Given the description of an element on the screen output the (x, y) to click on. 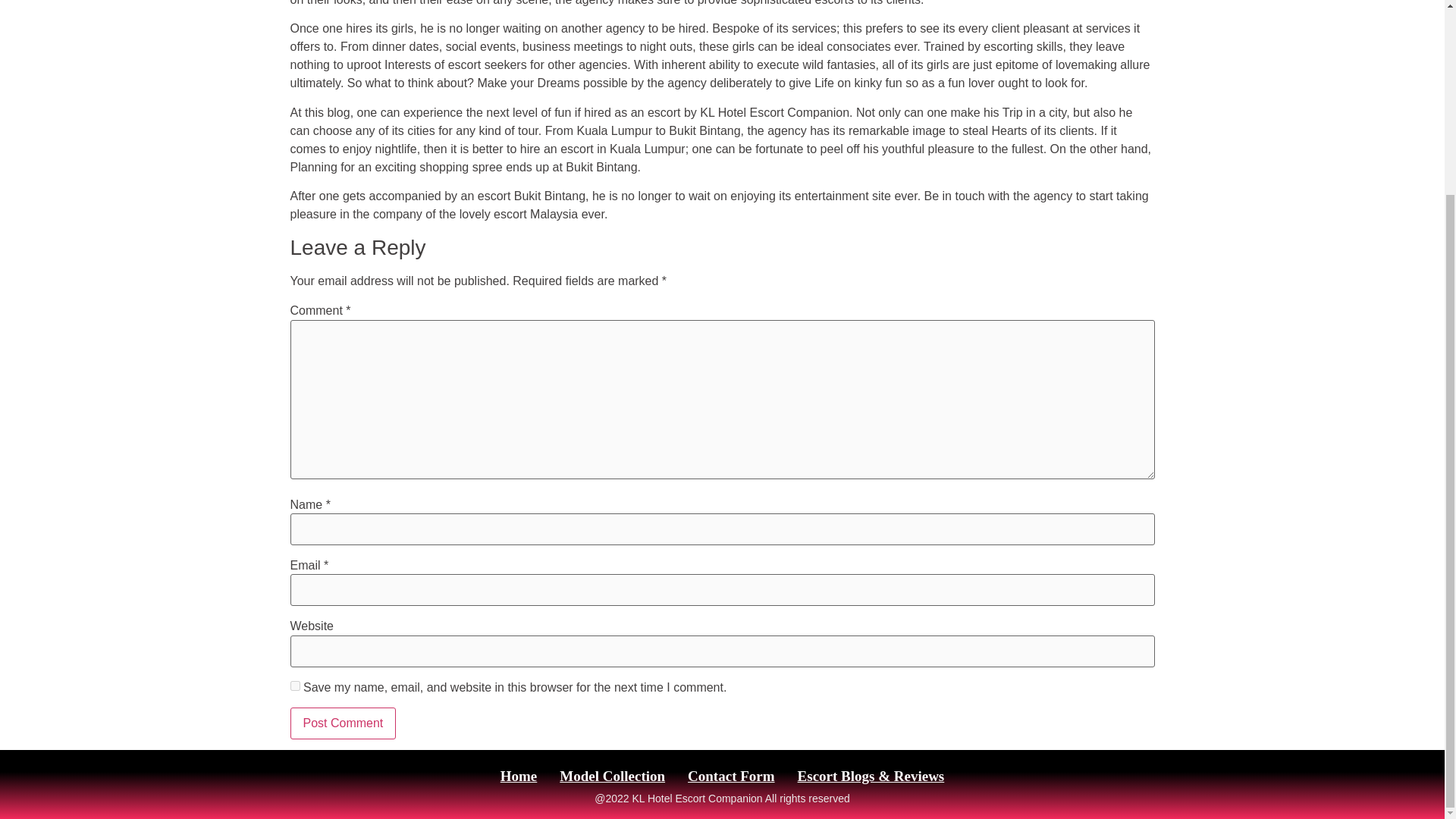
Post Comment (342, 722)
Post Comment (342, 722)
yes (294, 685)
Contact Form (731, 776)
Home (518, 776)
Model Collection (612, 776)
